Given the description of an element on the screen output the (x, y) to click on. 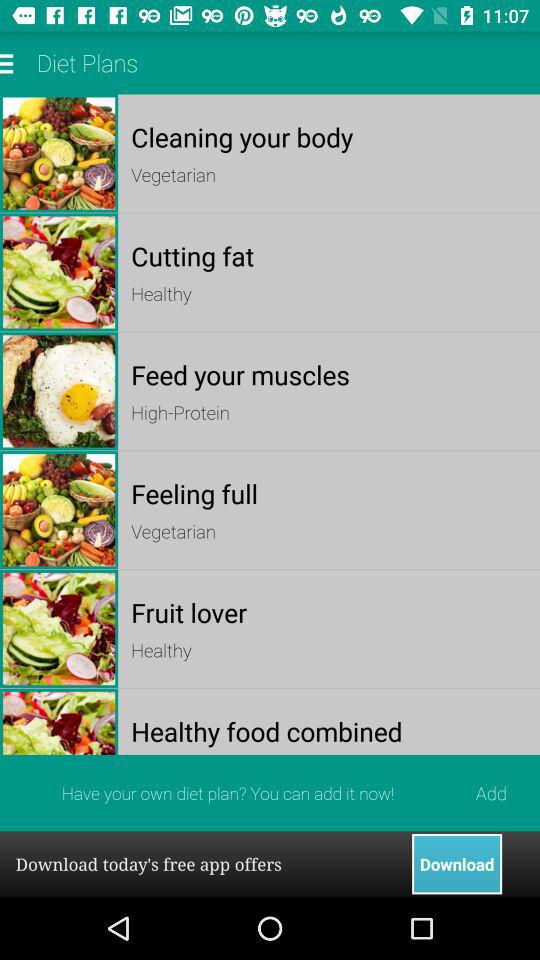
turn off the icon above healthy app (328, 255)
